Given the description of an element on the screen output the (x, y) to click on. 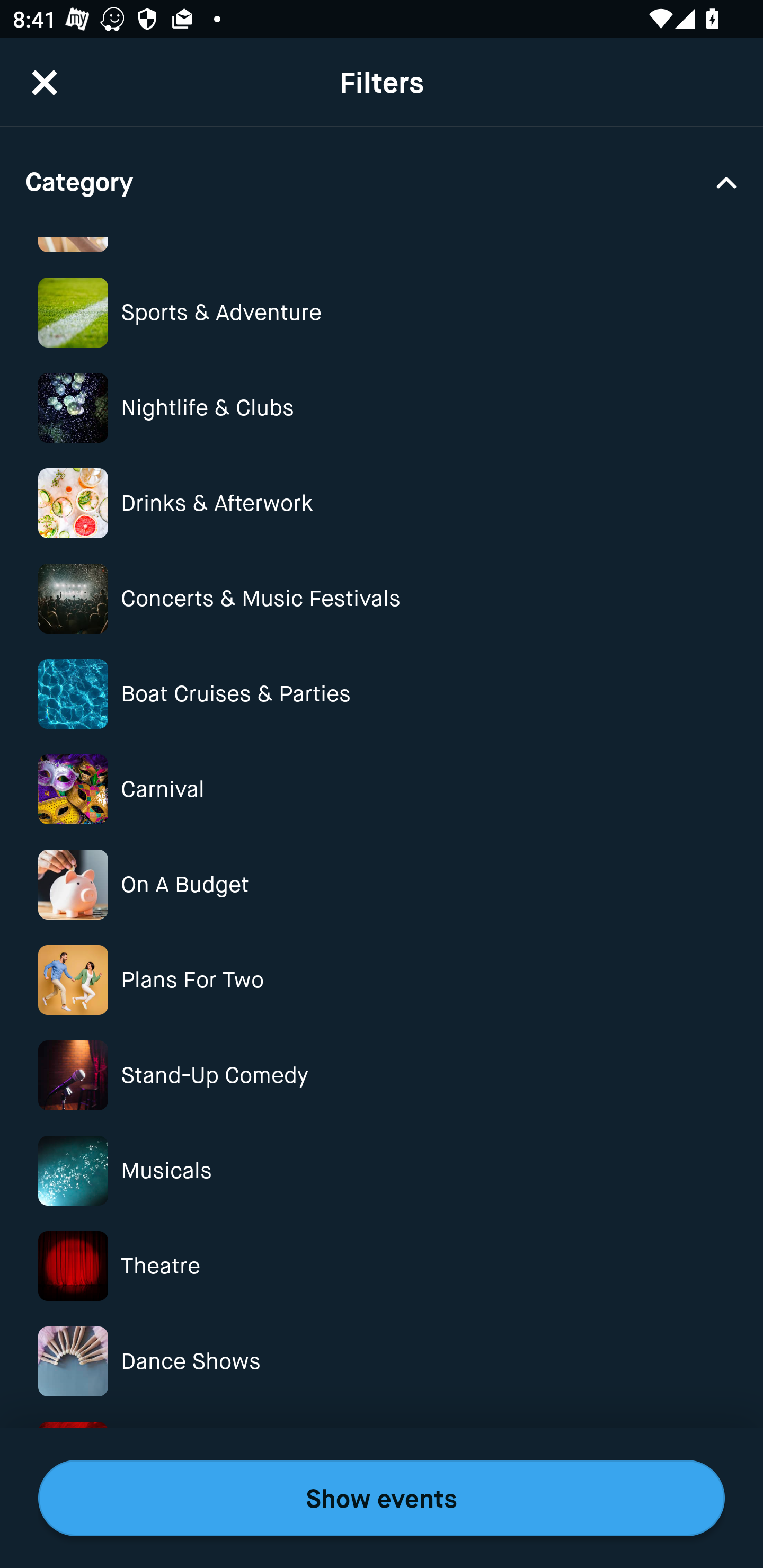
Category Drop Down Arrow (381, 181)
Category Image Sports & Adventure (381, 312)
Category Image Nightlife & Clubs (381, 407)
Category Image Drinks & Afterwork (381, 502)
Category Image Concerts & Music Festivals (381, 597)
Category Image Boat Cruises & Parties (381, 693)
Category Image Carnival (381, 789)
Category Image On A Budget (381, 884)
Category Image Plans For Two (381, 979)
Category Image Stand-Up Comedy (381, 1074)
Category Image Musicals (381, 1170)
Category Image Theatre (381, 1265)
Category Image Dance Shows (381, 1361)
Show events (381, 1497)
